Given the description of an element on the screen output the (x, y) to click on. 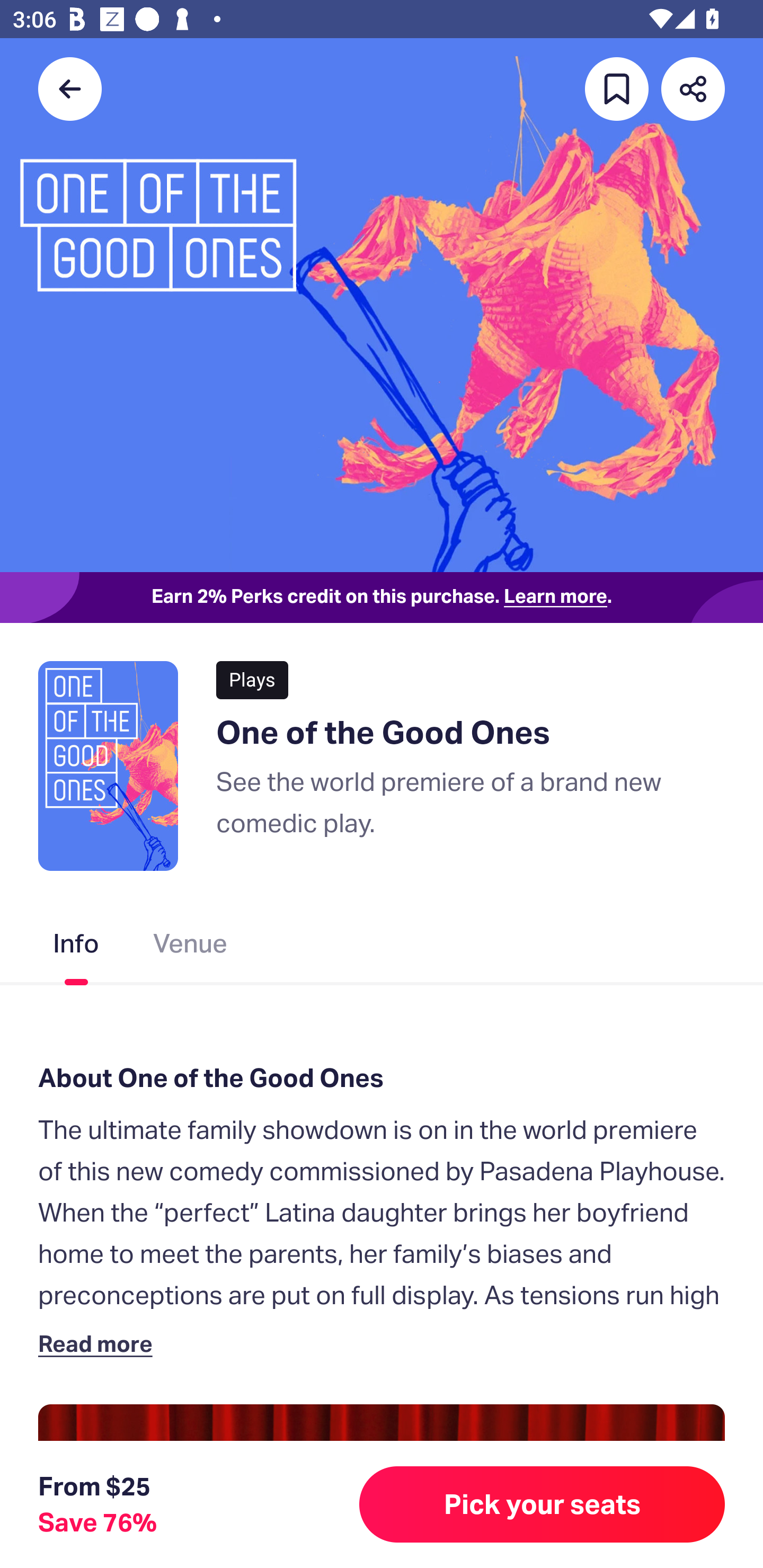
Earn 2% Perks credit on this purchase. Learn more. (381, 597)
Venue (190, 946)
About One of the Good Ones (381, 1077)
Read more (99, 1342)
Pick your seats (541, 1504)
